Given the description of an element on the screen output the (x, y) to click on. 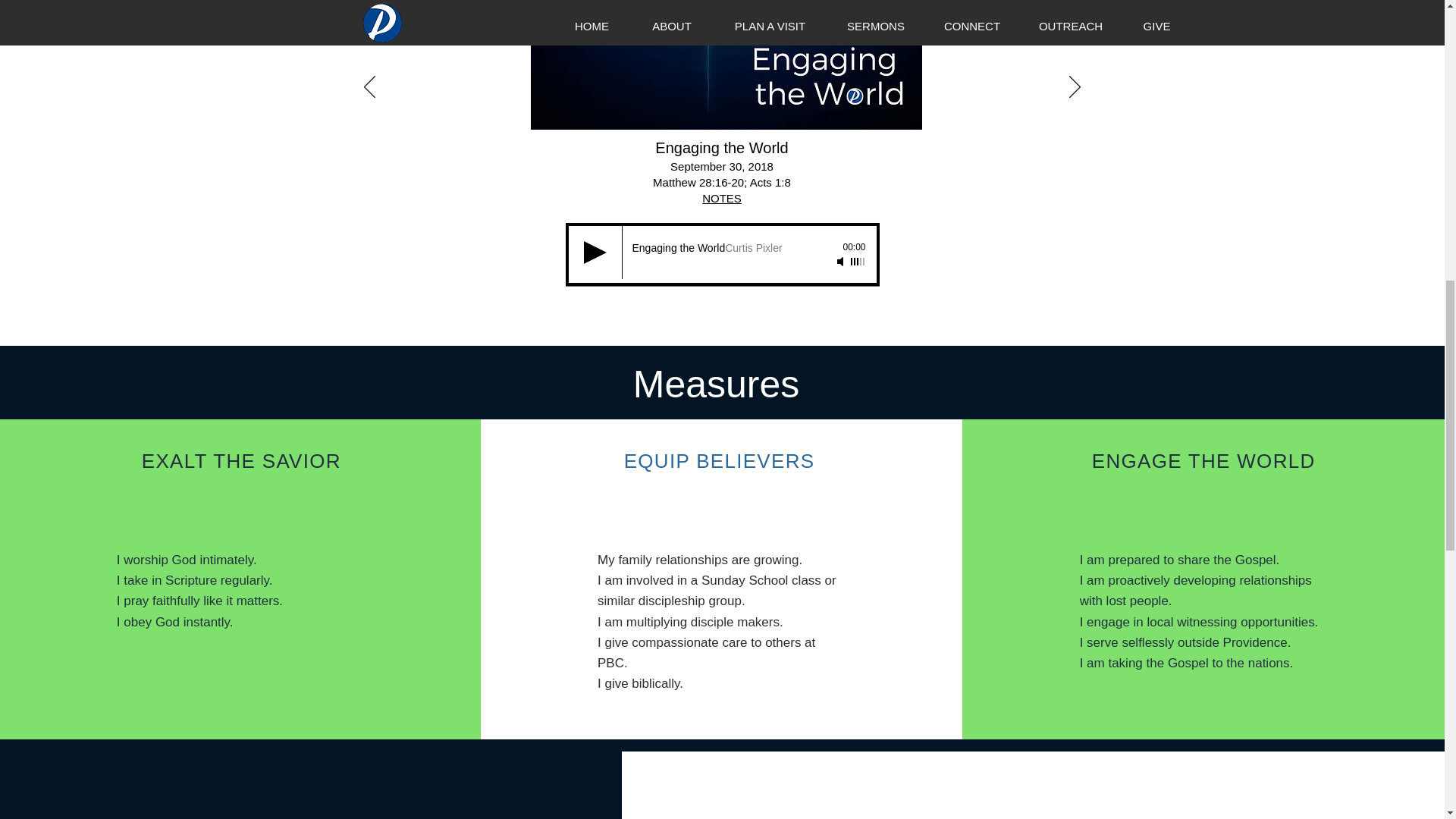
NOTES (721, 197)
External Vimeo (1032, 797)
